Given the description of an element on the screen output the (x, y) to click on. 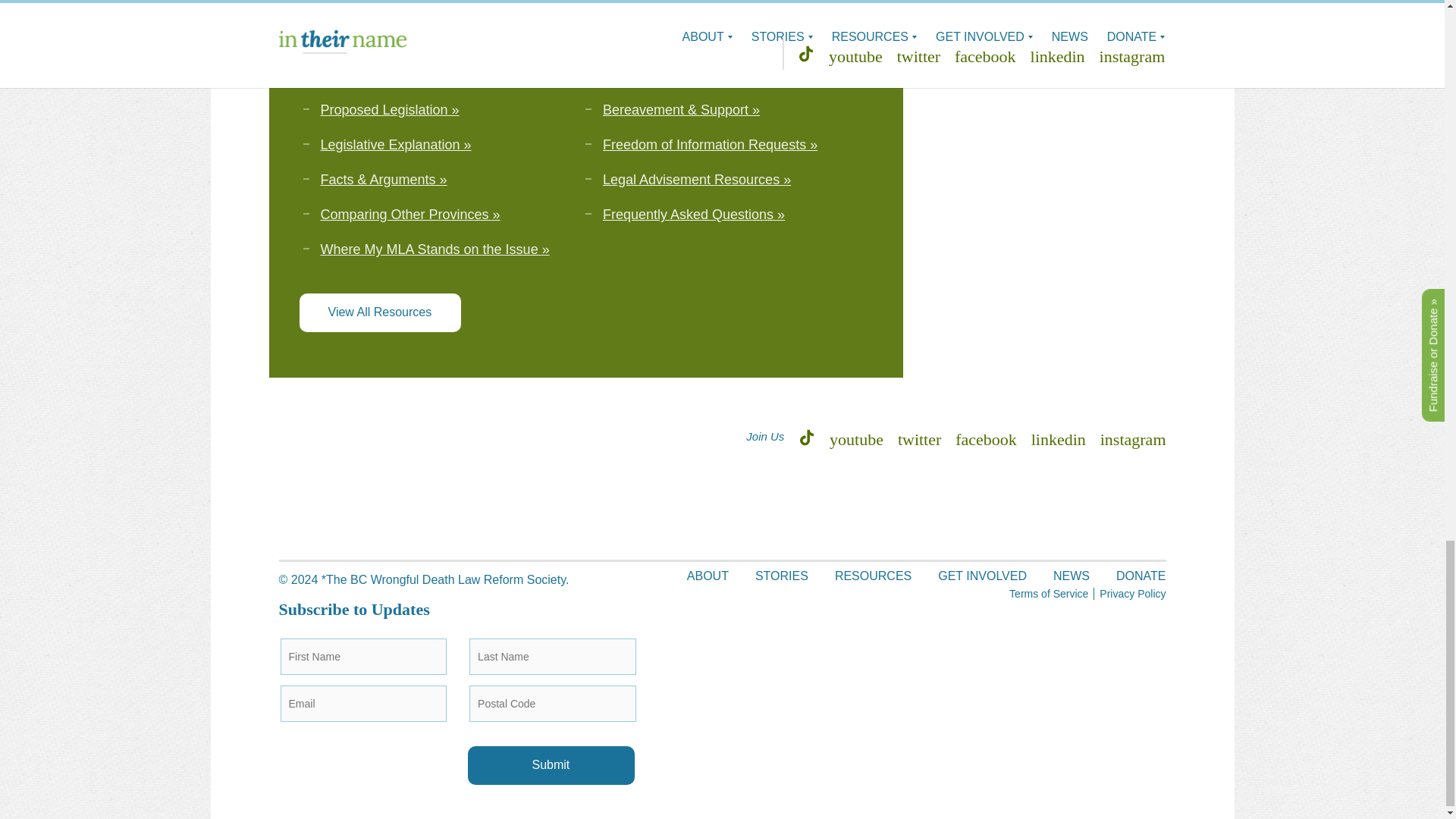
tiktok (806, 437)
In Their Name (392, 538)
